Given the description of an element on the screen output the (x, y) to click on. 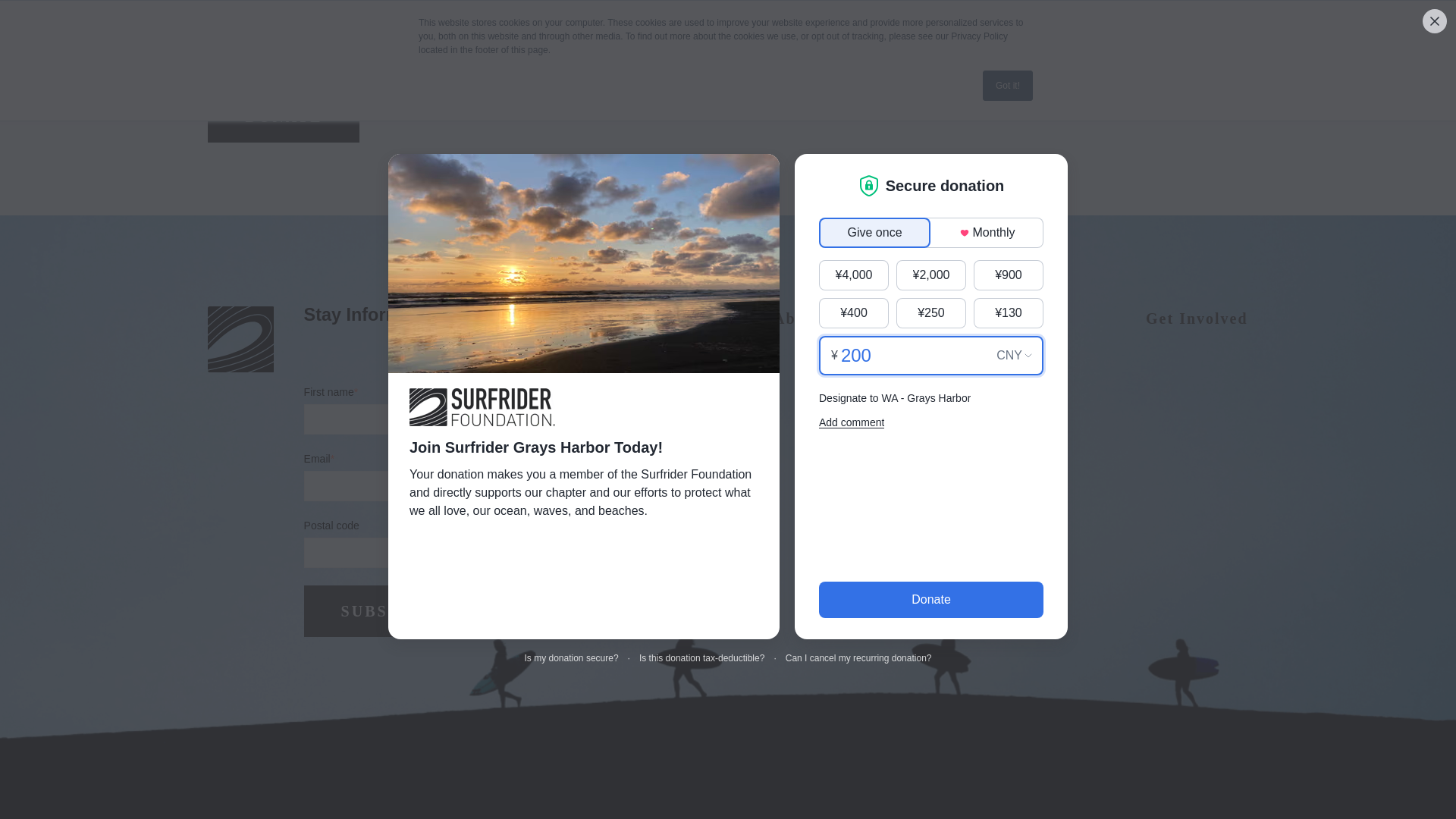
Subscribe (394, 611)
